Given the description of an element on the screen output the (x, y) to click on. 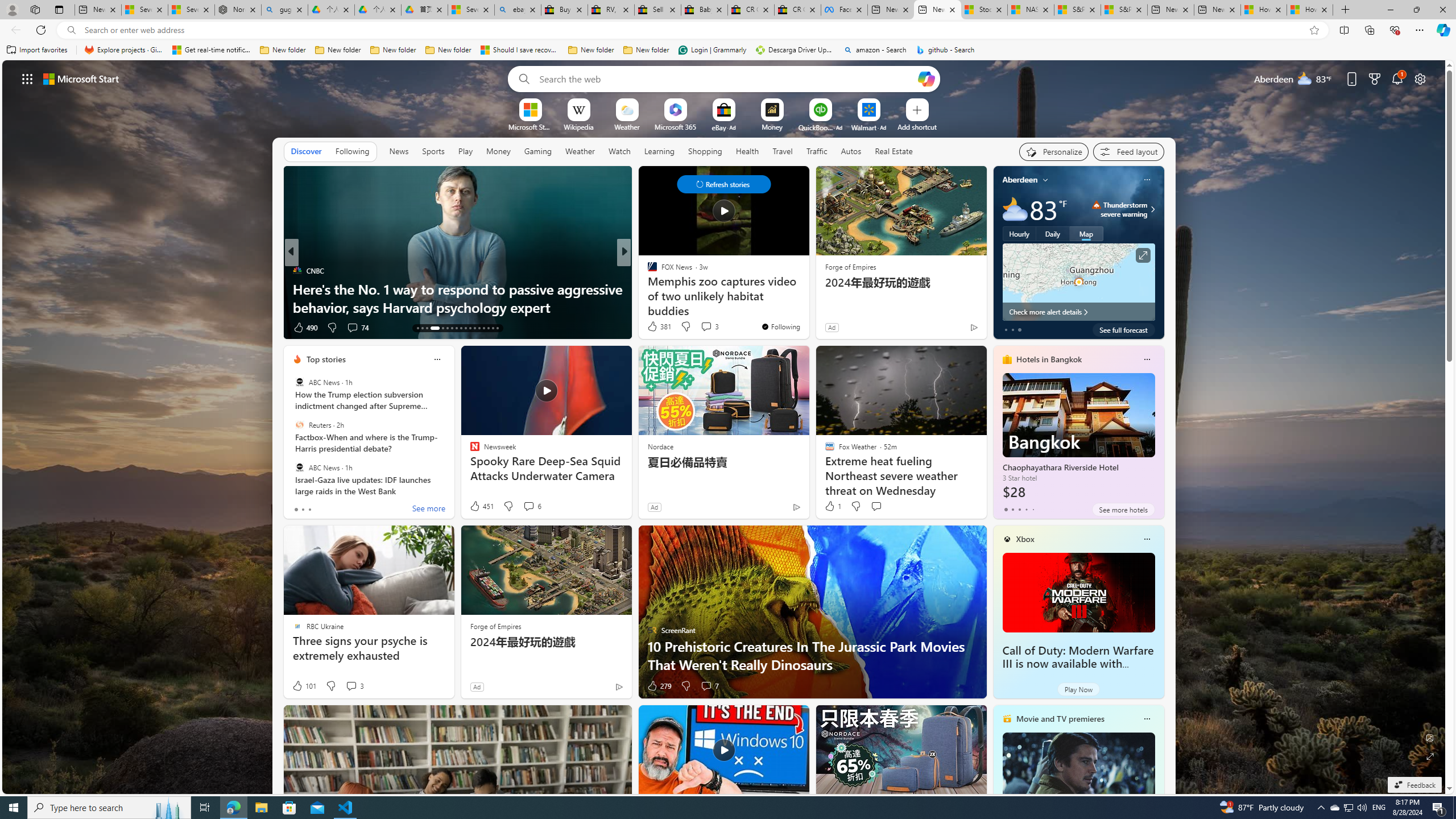
Autos (850, 151)
Gaming (537, 151)
Microsoft rewards (1374, 78)
1 Like (831, 505)
Watch (619, 151)
Microsoft 365 (675, 126)
Travel (782, 151)
Shopping (705, 151)
Weather (580, 151)
78 Like (652, 327)
Hotels in Bangkok (1048, 359)
